Given the description of an element on the screen output the (x, y) to click on. 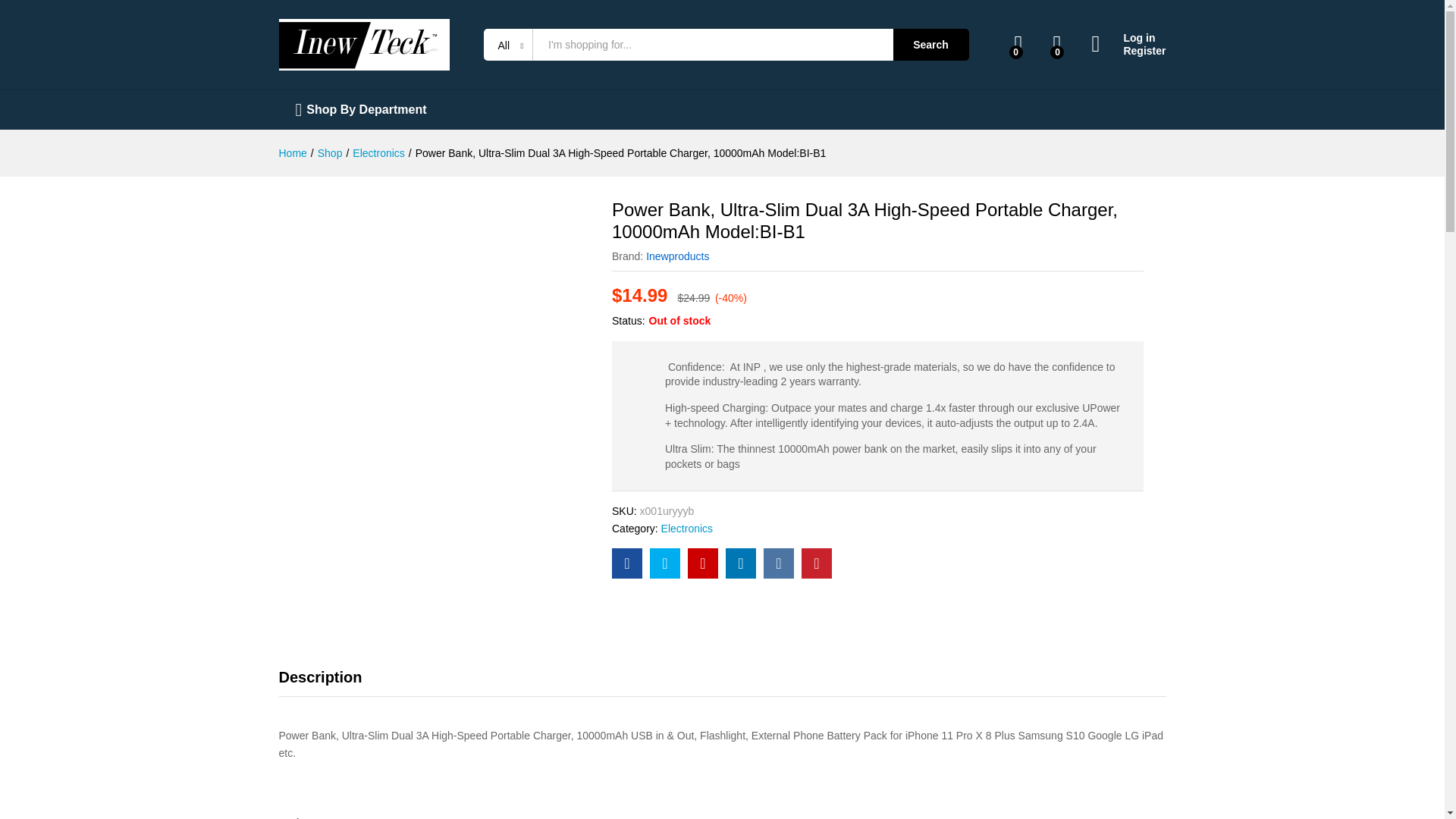
Search (931, 44)
Register (1128, 51)
Log in (1128, 38)
